Given the description of an element on the screen output the (x, y) to click on. 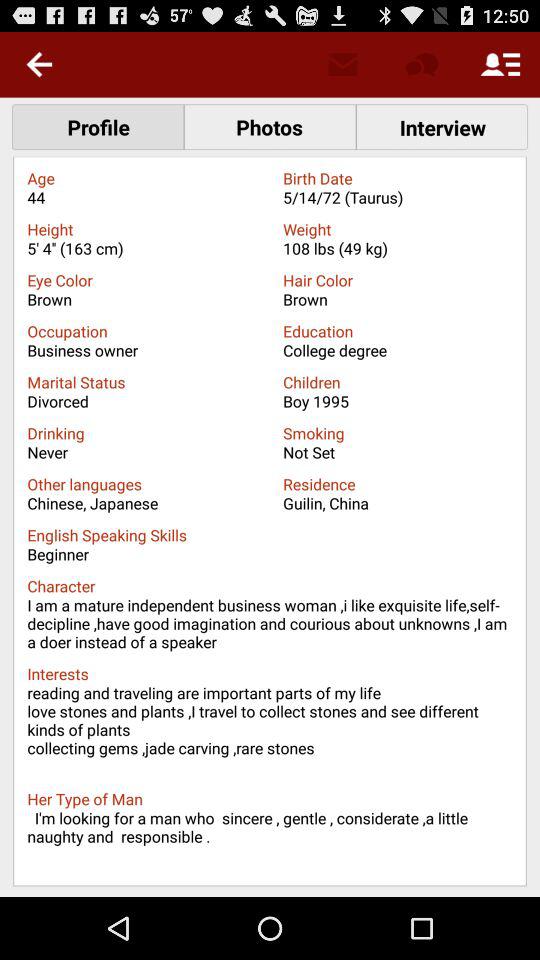
click on the text which says photos which is right side of the text profile (269, 126)
